Given the description of an element on the screen output the (x, y) to click on. 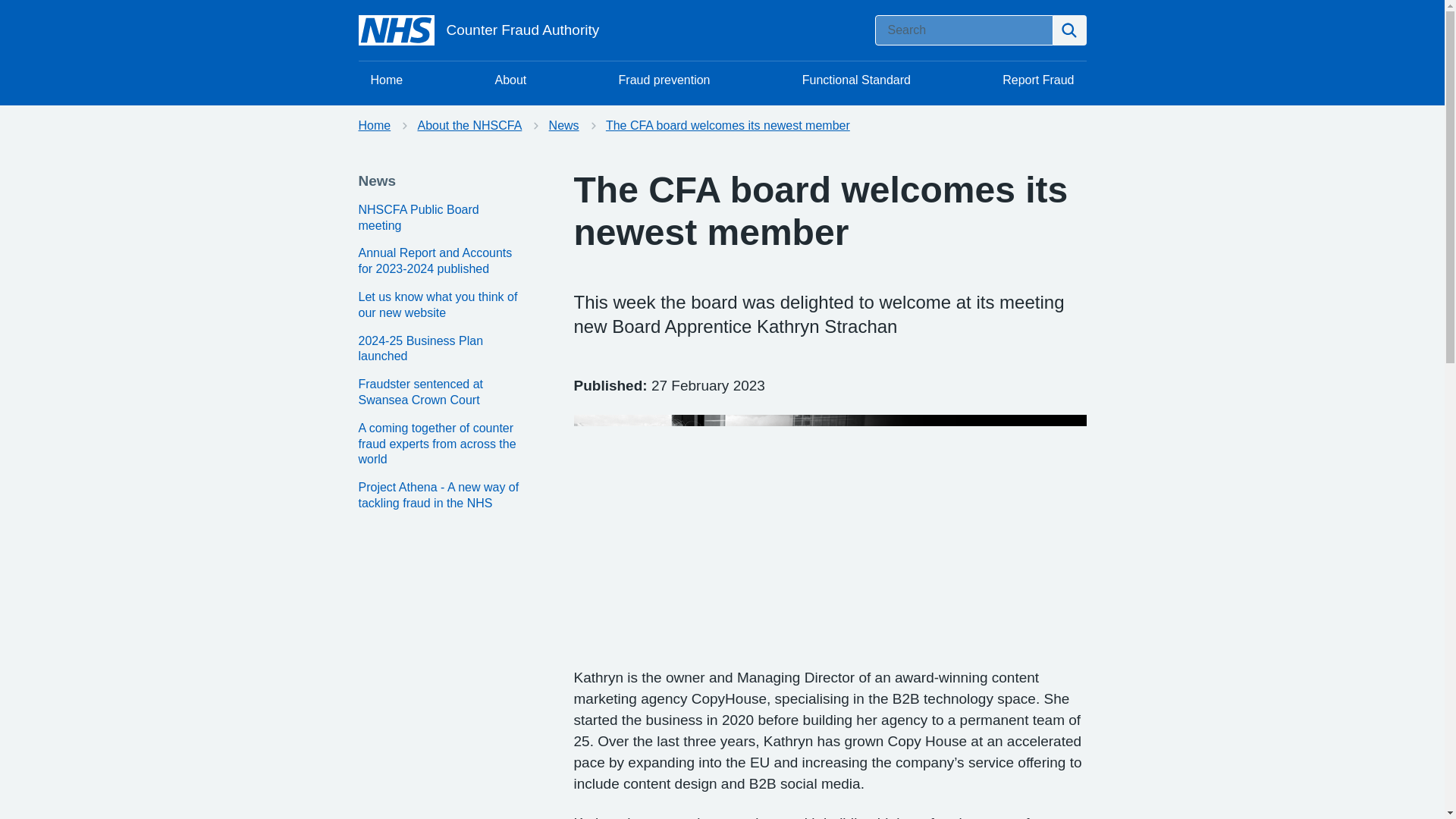
Search (1069, 30)
Home (386, 80)
Counter Fraud Authority (478, 30)
